Given the description of an element on the screen output the (x, y) to click on. 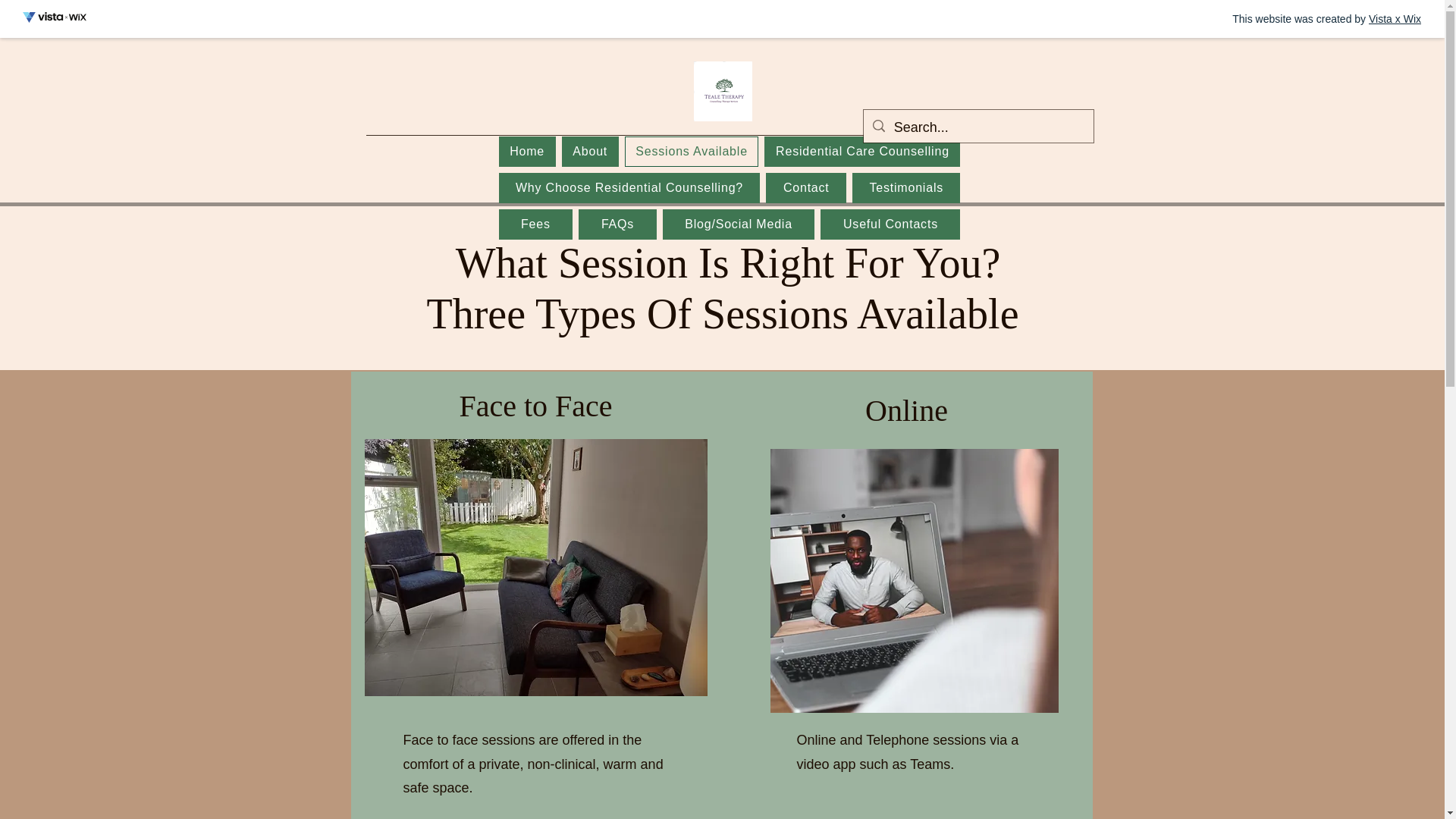
Contact (805, 187)
Testimonials (905, 187)
FAQs (617, 224)
Home (527, 151)
Useful Contacts (890, 224)
Why Choose Residential Counselling? (629, 187)
Residential Care Counselling (861, 151)
Sessions Available (691, 151)
18045748624393054.webp (535, 567)
Fees (536, 224)
